Given the description of an element on the screen output the (x, y) to click on. 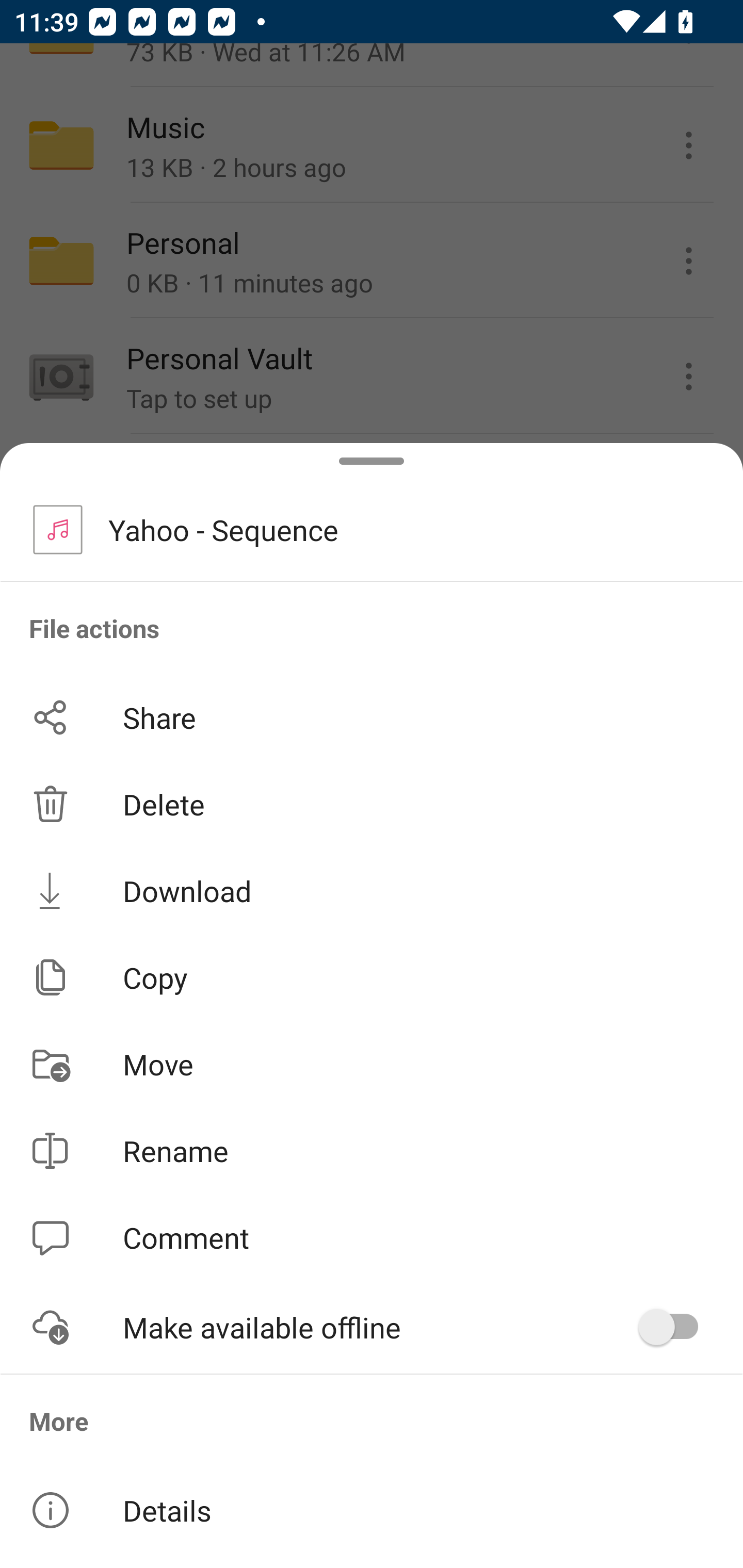
Share button Share (371, 717)
Delete button Delete (371, 803)
Download button Download (371, 890)
Copy button Copy (371, 977)
Move button Move (371, 1063)
Rename button Rename (371, 1150)
Comment button Comment (371, 1237)
Make offline operation (674, 1327)
Details button Details (371, 1510)
